Given the description of an element on the screen output the (x, y) to click on. 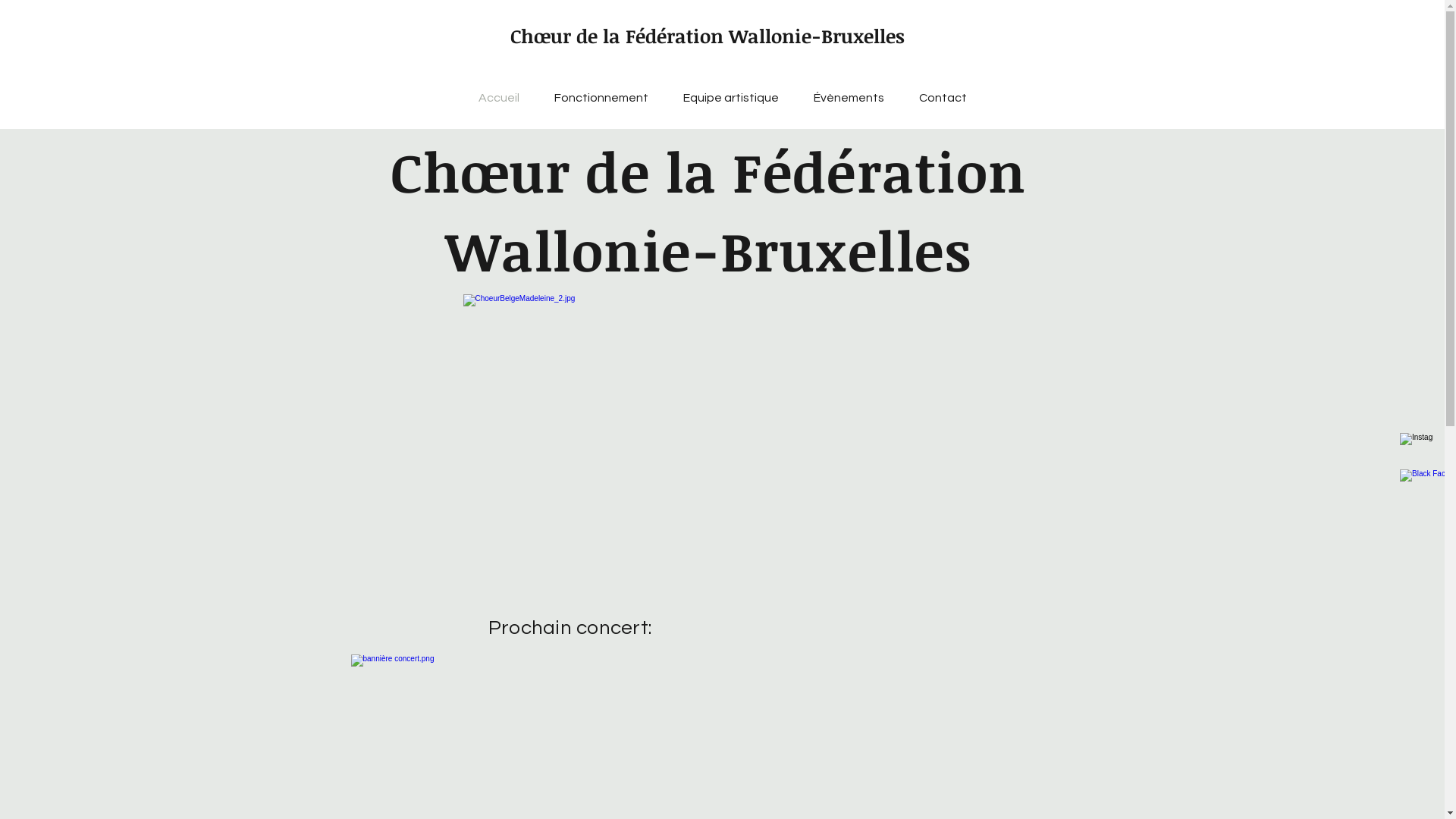
Accueil Element type: text (498, 97)
Equipe artistique Element type: text (730, 97)
Contact Element type: text (941, 97)
Fonctionnement Element type: text (600, 97)
